Given the description of an element on the screen output the (x, y) to click on. 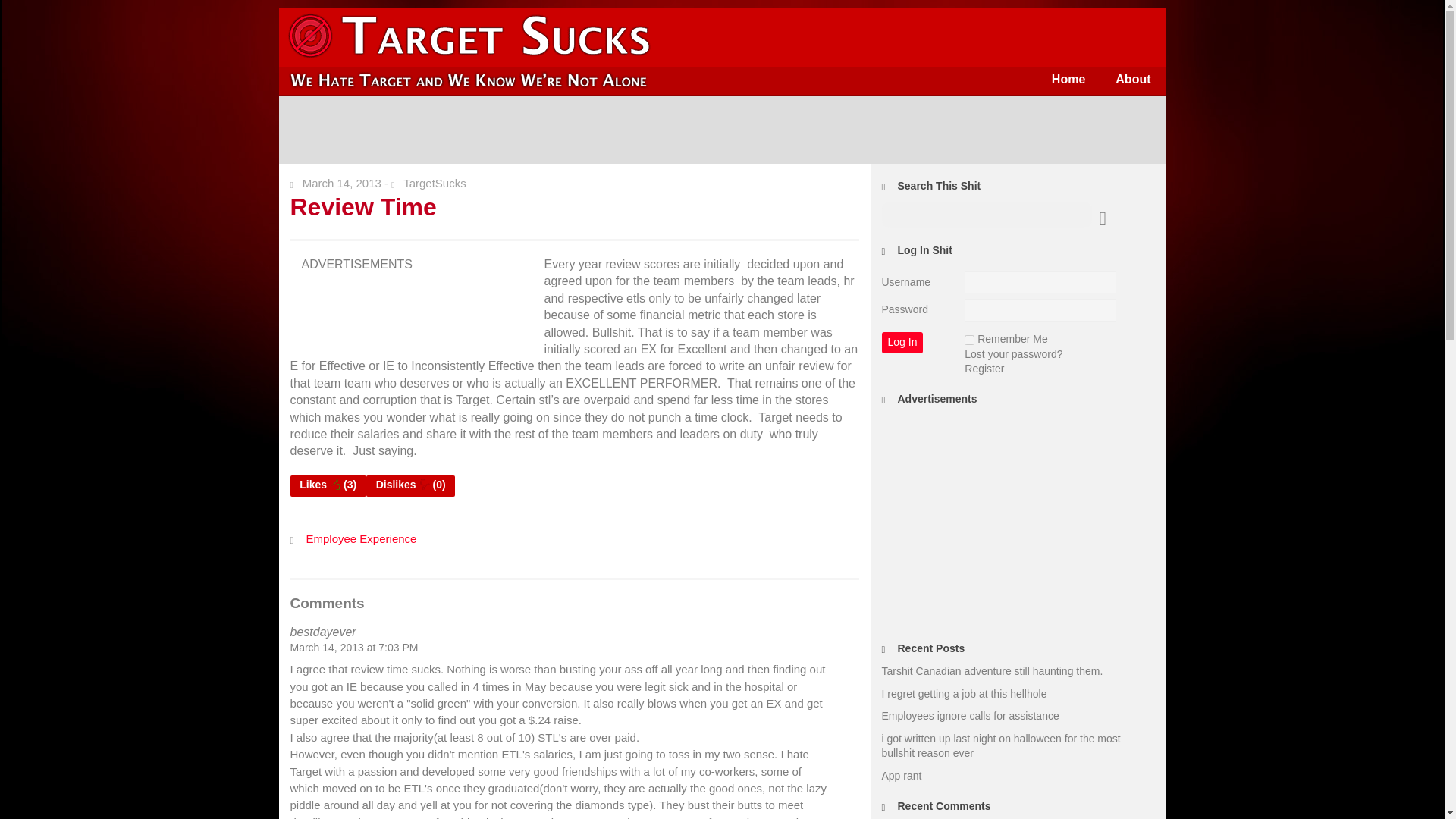
Search (22, 10)
Advertisement (722, 129)
I regret getting a job at this hellhole (963, 693)
Log In (901, 342)
Password Lost and Found (1012, 354)
Register (983, 368)
Employees ignore calls for assistance (969, 715)
Search for: (986, 215)
About (1132, 79)
Lost your password? (1012, 354)
Log In (901, 342)
March 14, 2013 at 7:03 PM (353, 647)
Tarshit Canadian adventure still haunting them. (991, 671)
Employee Experience (360, 538)
Home (1068, 79)
